Given the description of an element on the screen output the (x, y) to click on. 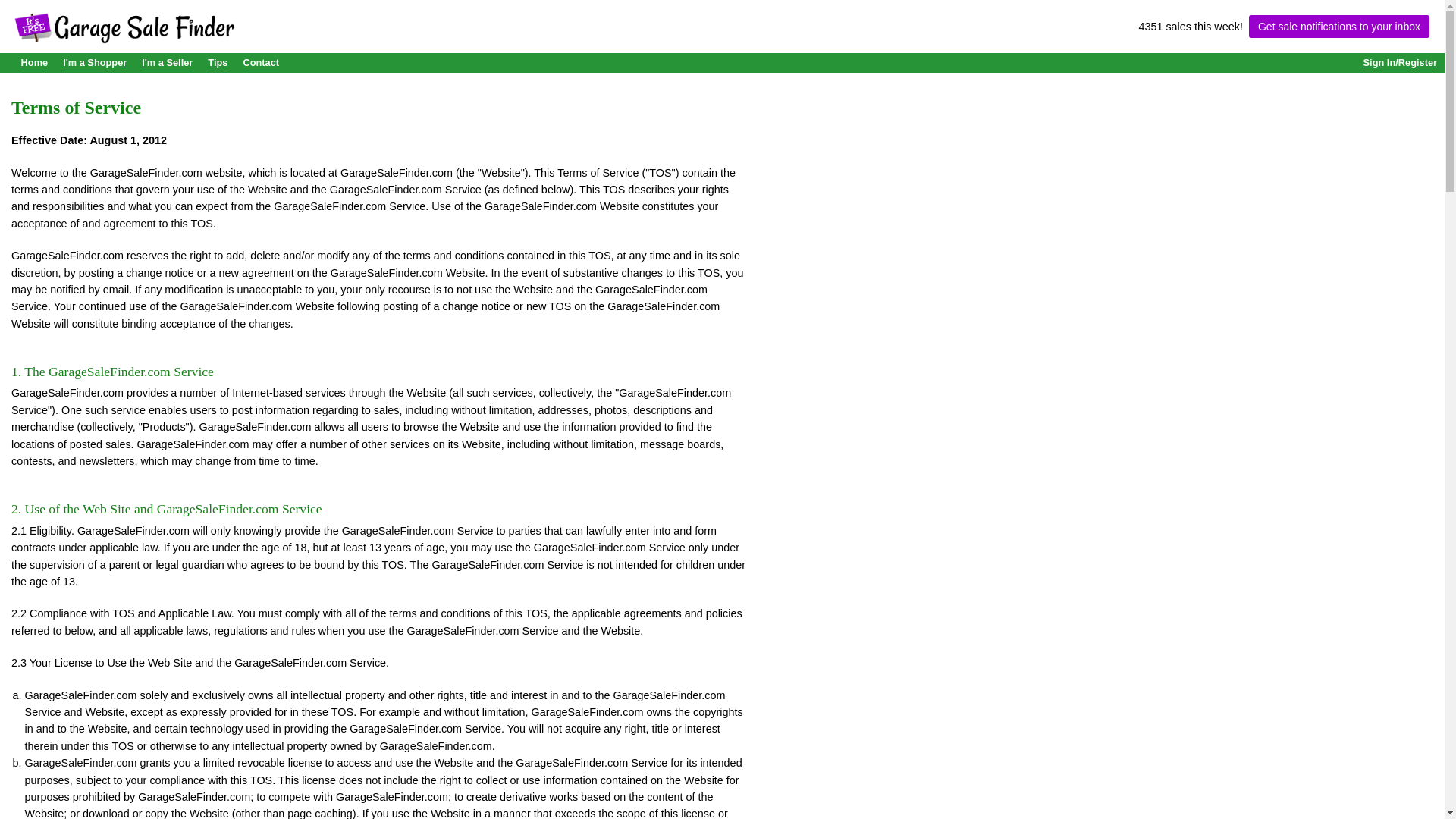
Contact (261, 61)
I'm a Shopper (94, 61)
Get garage sale maps for your area. (94, 61)
Home (34, 61)
I'm a Seller (166, 61)
garage sale map home (34, 61)
Tips (217, 61)
Login to GarageSaleFinder.com (1399, 61)
